Given the description of an element on the screen output the (x, y) to click on. 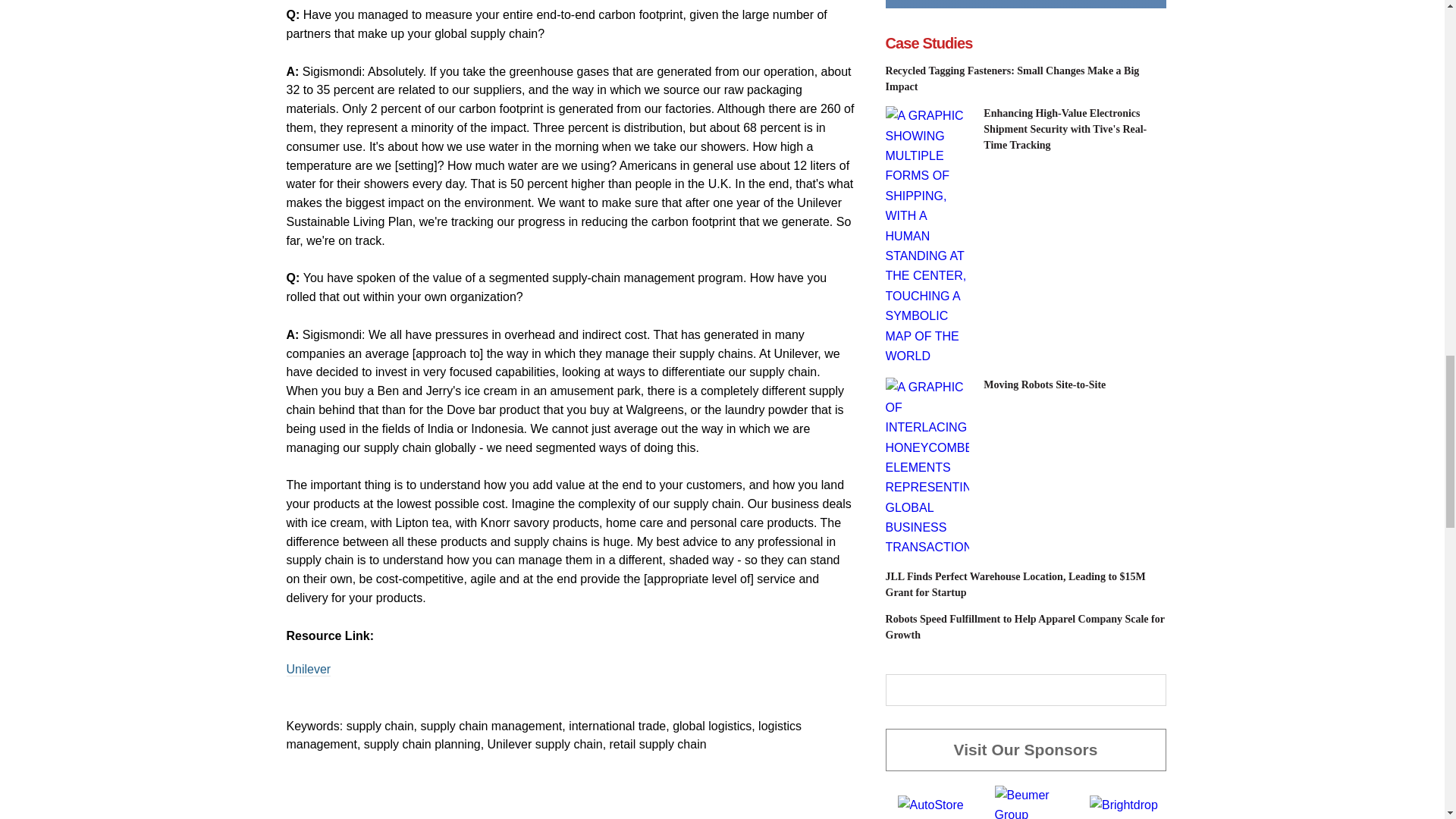
AutoStore (930, 804)
Brightdrop (1123, 804)
Beumer Group (1029, 804)
